Given the description of an element on the screen output the (x, y) to click on. 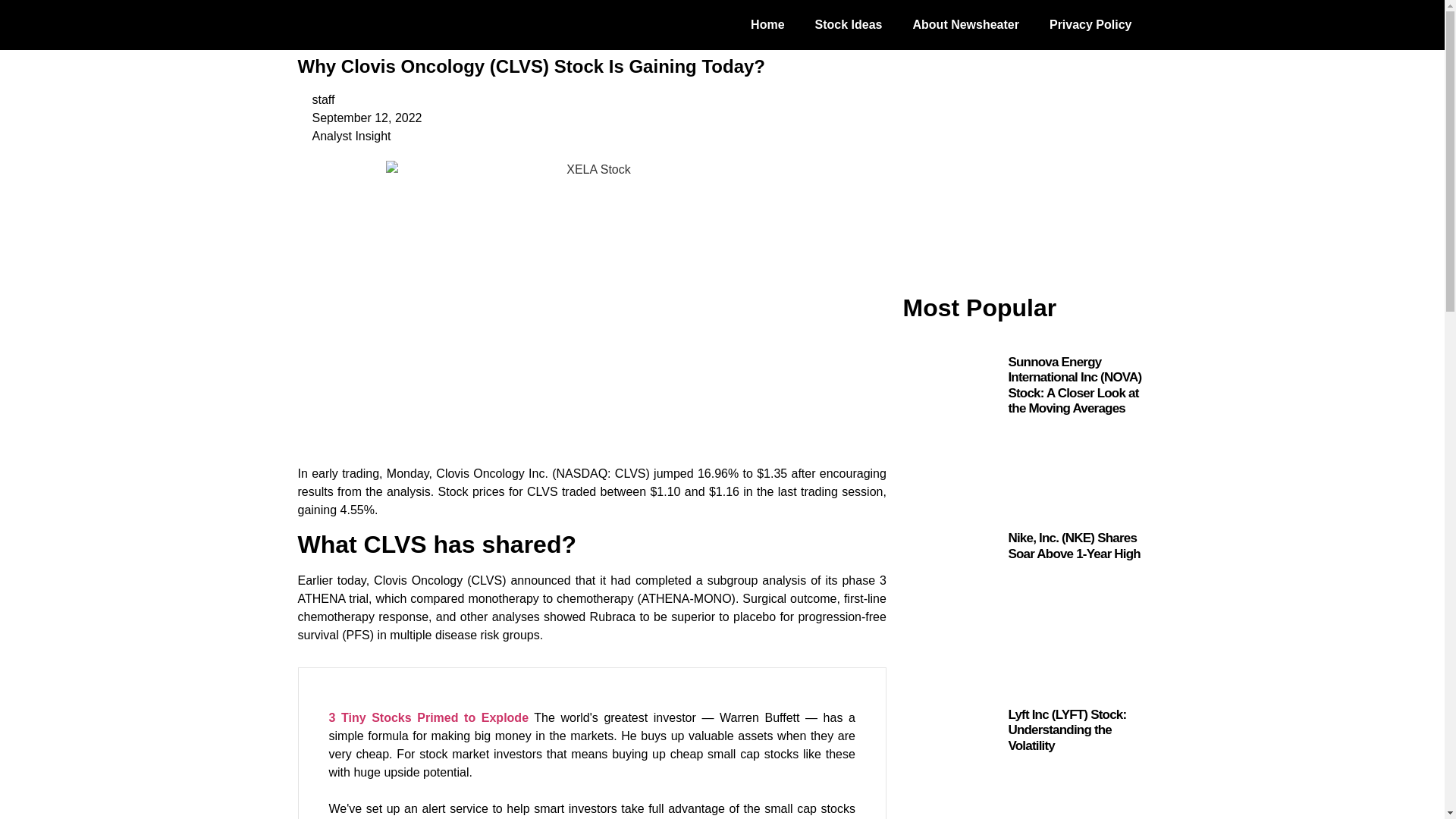
Analyst Insight (352, 135)
September 12, 2022 (359, 117)
Home (767, 24)
staff (315, 99)
Privacy Policy (1090, 24)
About Newsheater (965, 24)
Stock Ideas (848, 24)
3 Tiny Stocks Primed to Explode (429, 717)
